Given the description of an element on the screen output the (x, y) to click on. 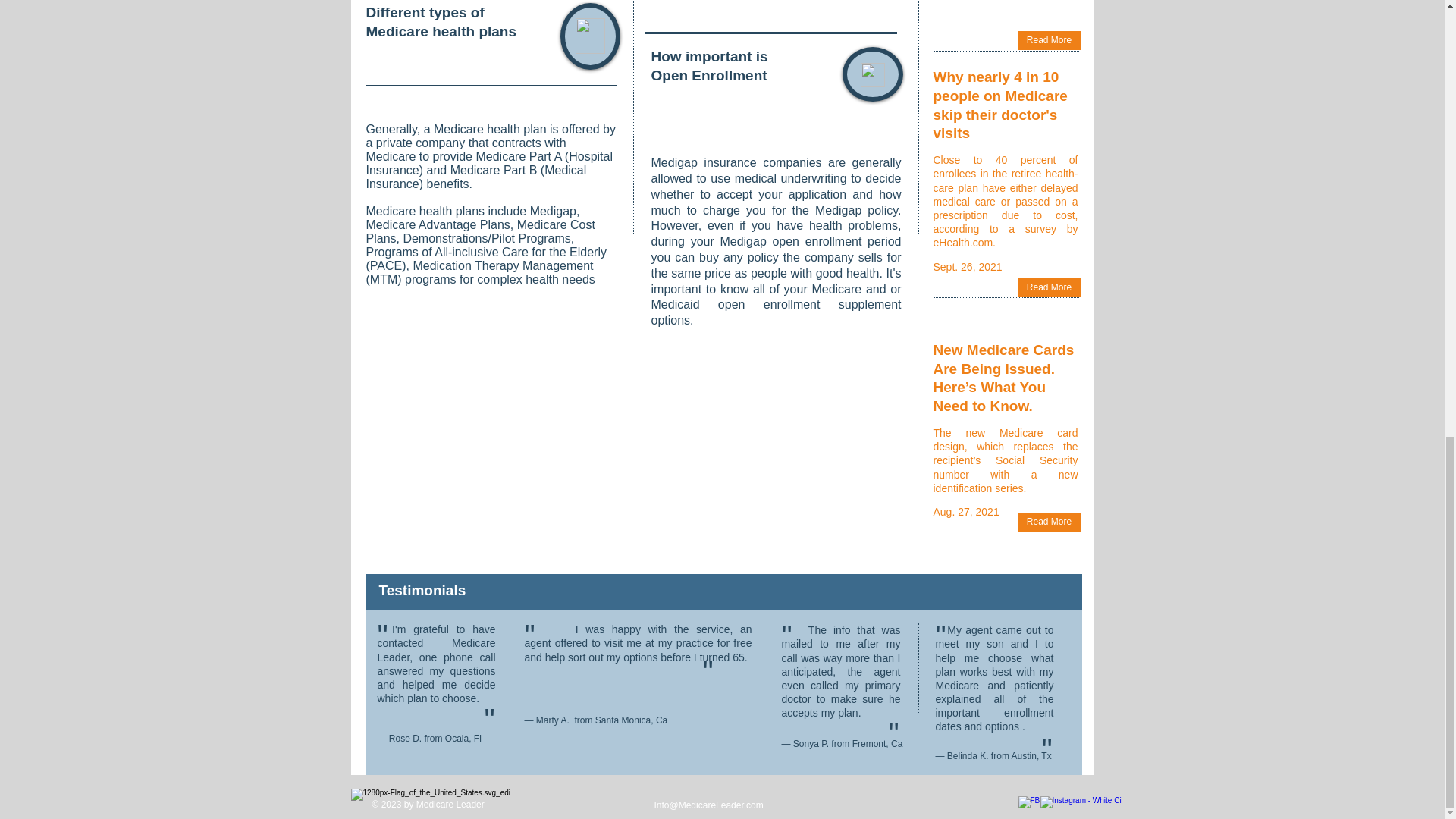
Read More (1048, 40)
Read More (1048, 287)
Read More (1048, 521)
Medicare Advantage Plans (437, 224)
